Given the description of an element on the screen output the (x, y) to click on. 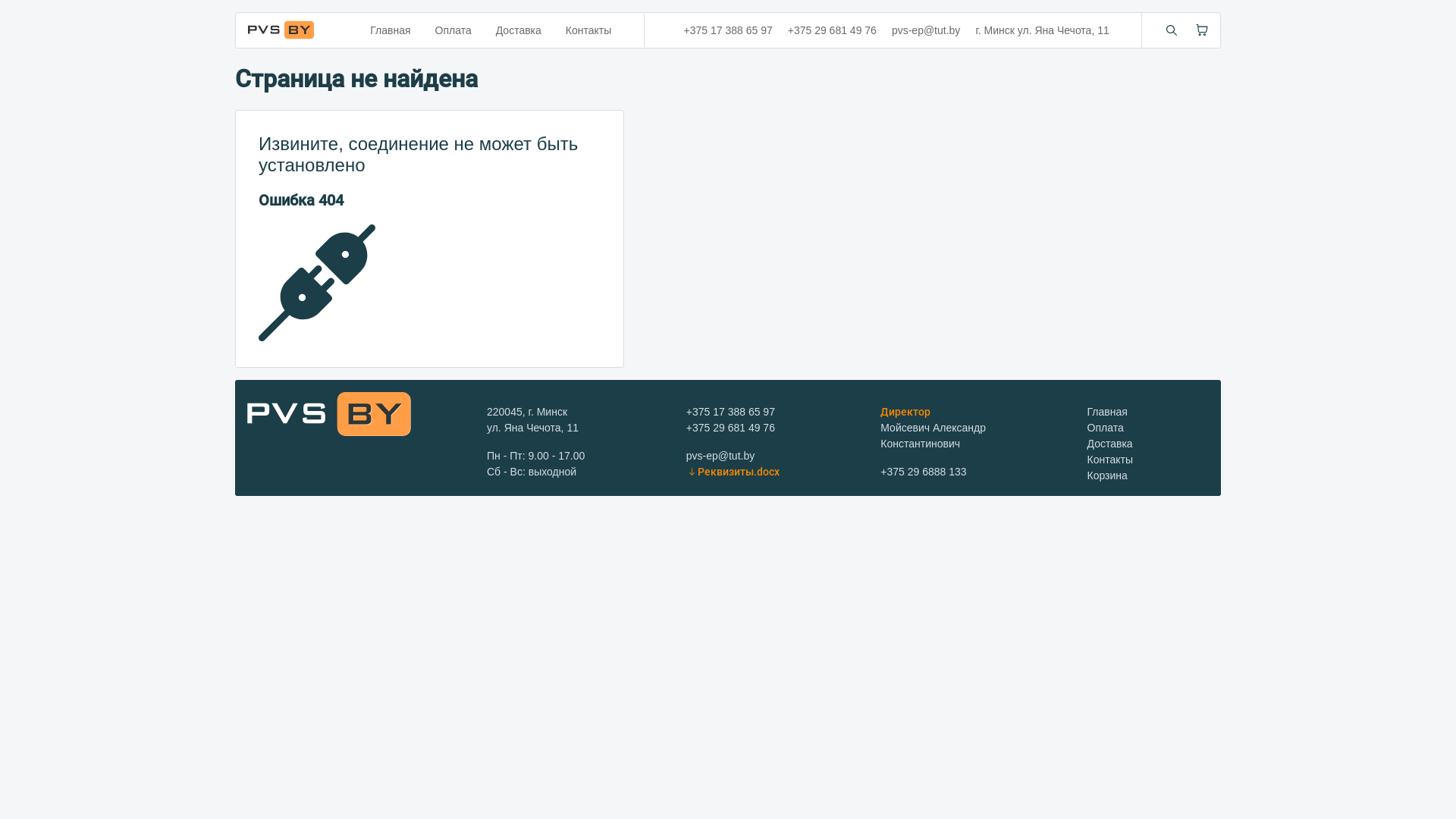
+375 17 388 65 97 Element type: text (730, 411)
+375 29 681 49 76 Element type: text (730, 427)
+375 29 6888 133 Element type: text (923, 471)
+375 29 681 49 76 Element type: text (831, 30)
+375 17 388 65 97 Element type: text (728, 30)
